Given the description of an element on the screen output the (x, y) to click on. 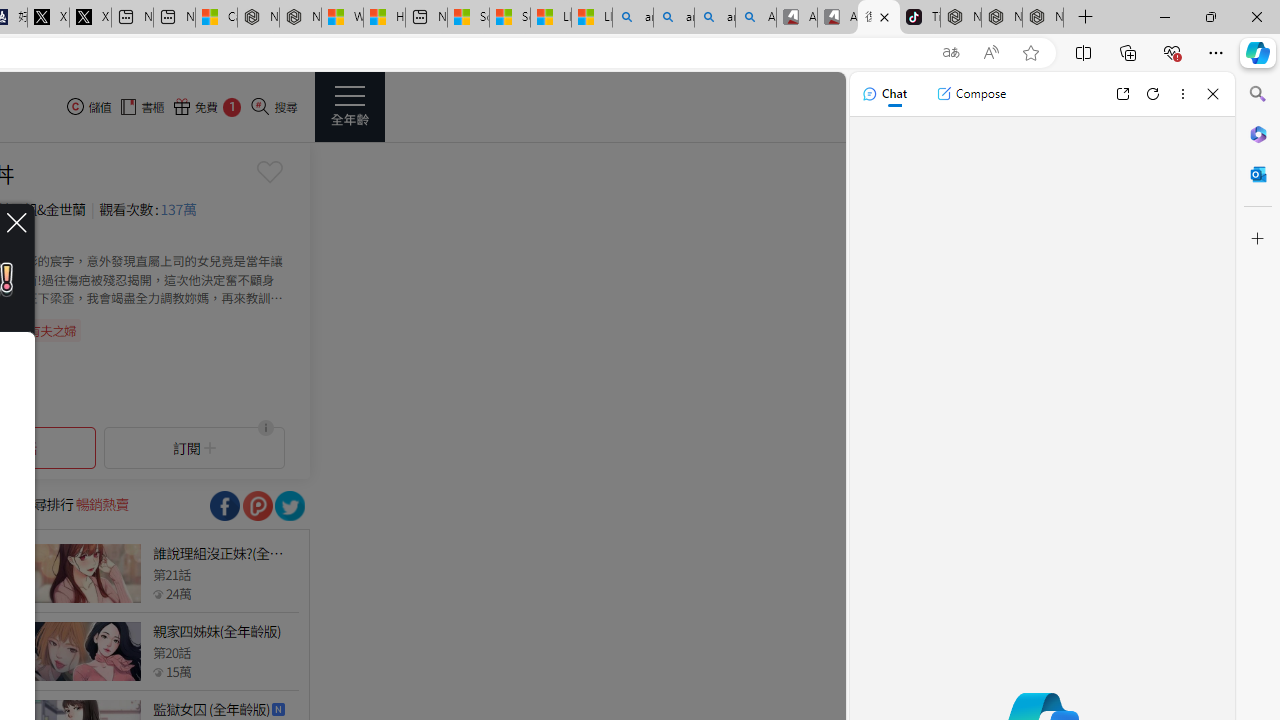
Chat (884, 93)
TikTok (919, 17)
Class: epicon_starpoint (158, 671)
Compose (971, 93)
Huge shark washes ashore at New York City beach | Watch (383, 17)
Class: socialShare (289, 506)
